Given the description of an element on the screen output the (x, y) to click on. 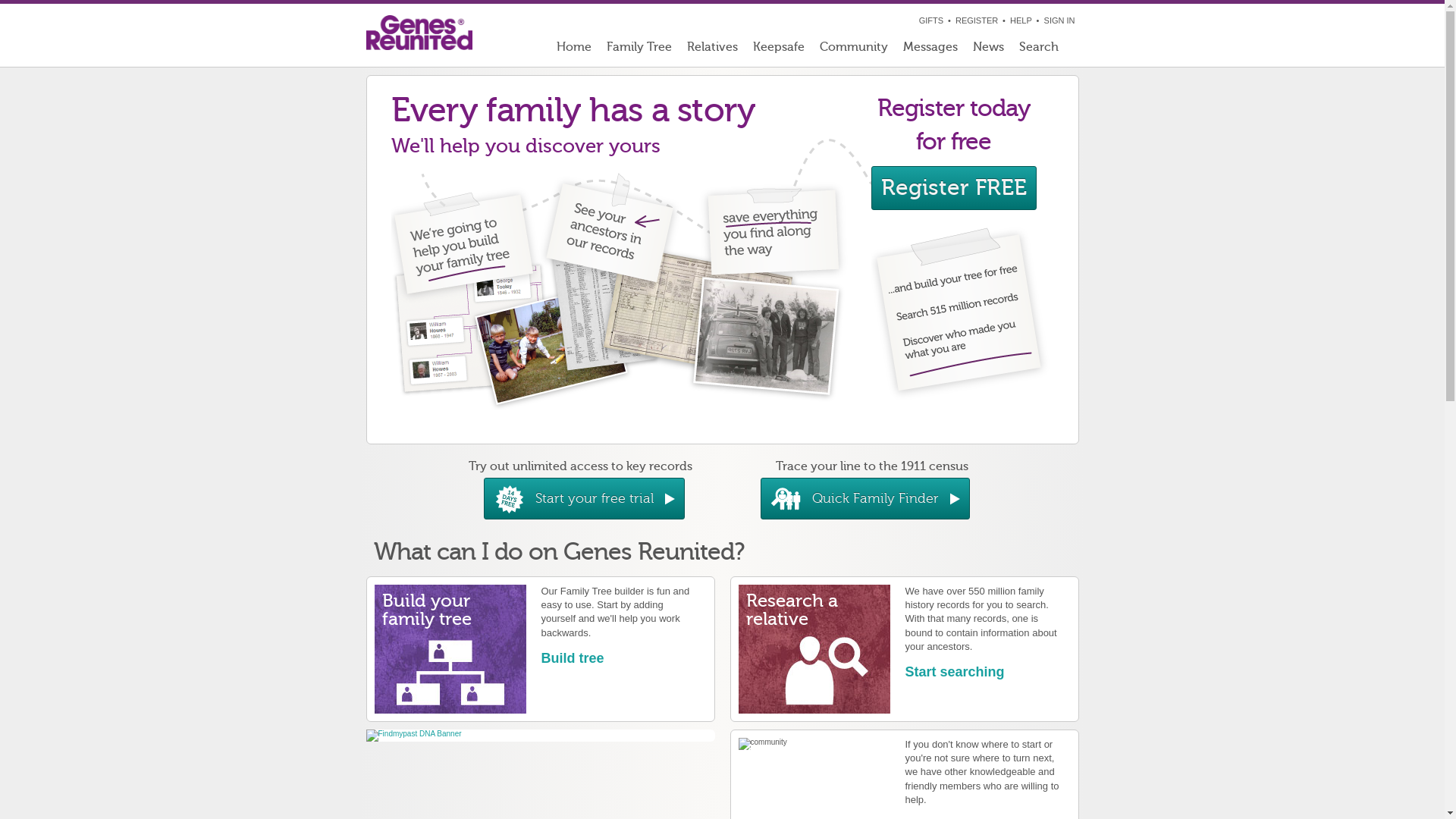
News Element type: text (987, 50)
SIGN IN Element type: text (1059, 20)
Messages Element type: text (929, 50)
GIFTS Element type: text (931, 20)
Search Element type: text (1045, 50)
Community Element type: text (852, 50)
Register FREE Element type: text (952, 188)
Keepsafe Element type: text (777, 50)
Relatives Element type: text (712, 50)
Build tree Element type: text (572, 657)
Family Tree Element type: text (639, 50)
Start searching Element type: text (954, 671)
Start your free trial Element type: text (583, 498)
REGISTER Element type: text (976, 20)
Home Element type: text (574, 50)
Quick Family Finder Element type: text (864, 498)
HELP Element type: text (1021, 20)
